Given the description of an element on the screen output the (x, y) to click on. 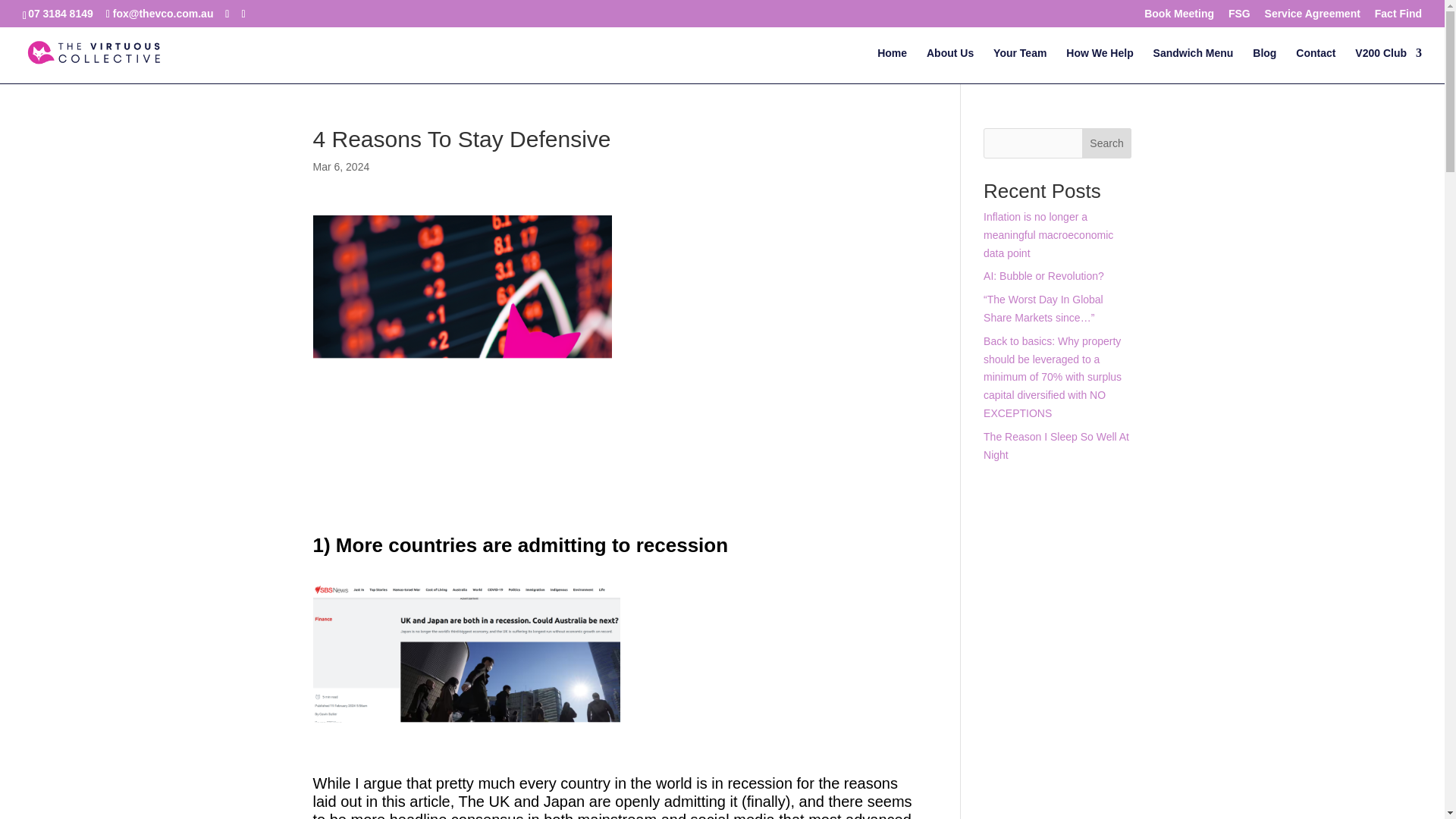
AI: Bubble or Revolution? (1043, 275)
Fact Find (1398, 16)
Search (1106, 142)
The Reason I Sleep So Well At Night (1056, 445)
About Us (950, 65)
Service Agreement (1312, 16)
Contact (1315, 65)
Inflation is no longer a meaningful macroeconomic data point (1048, 234)
this article (415, 801)
Sandwich Menu (1193, 65)
